Given the description of an element on the screen output the (x, y) to click on. 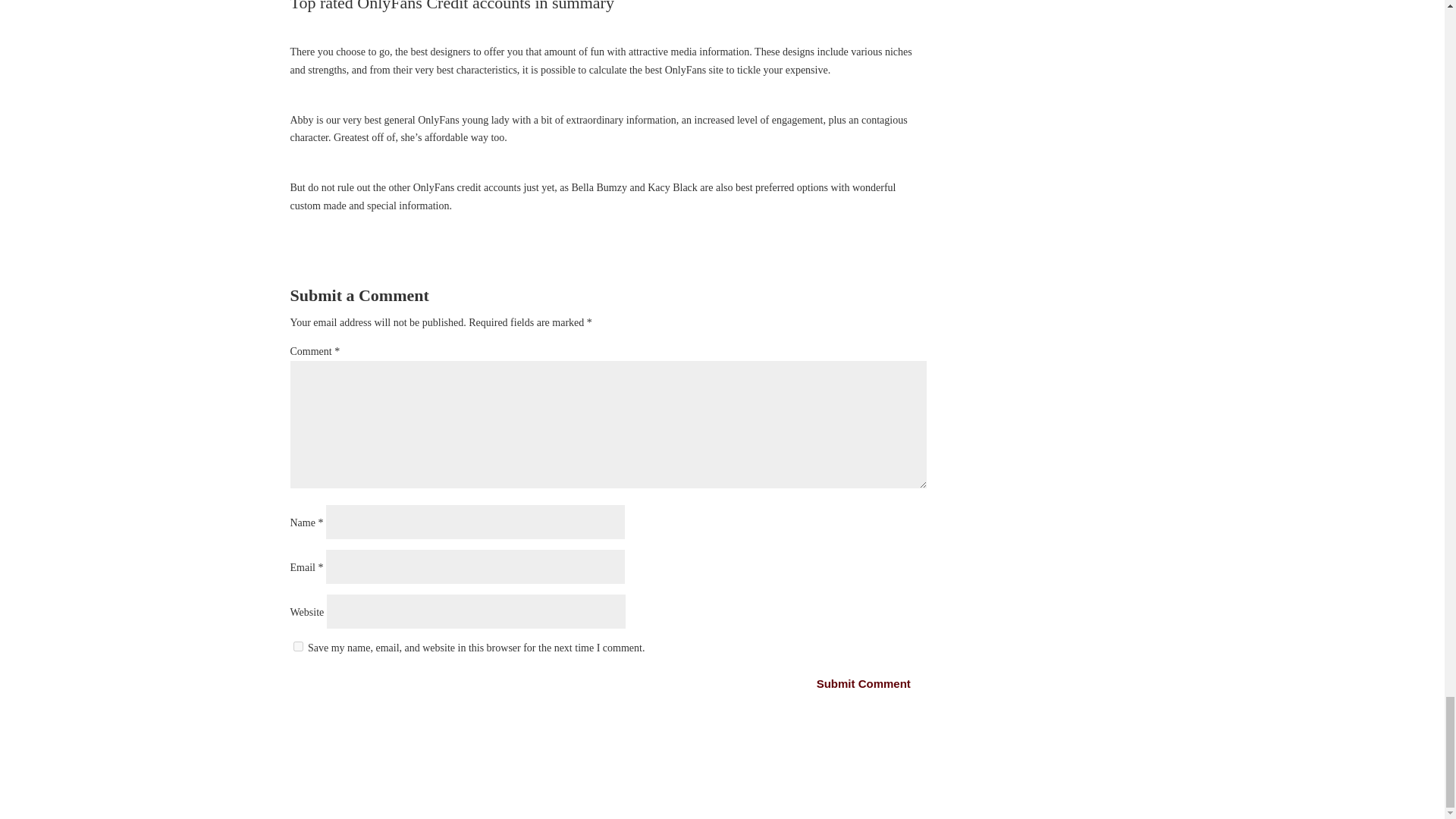
Submit Comment (863, 684)
Submit Comment (863, 684)
yes (297, 646)
